Given the description of an element on the screen output the (x, y) to click on. 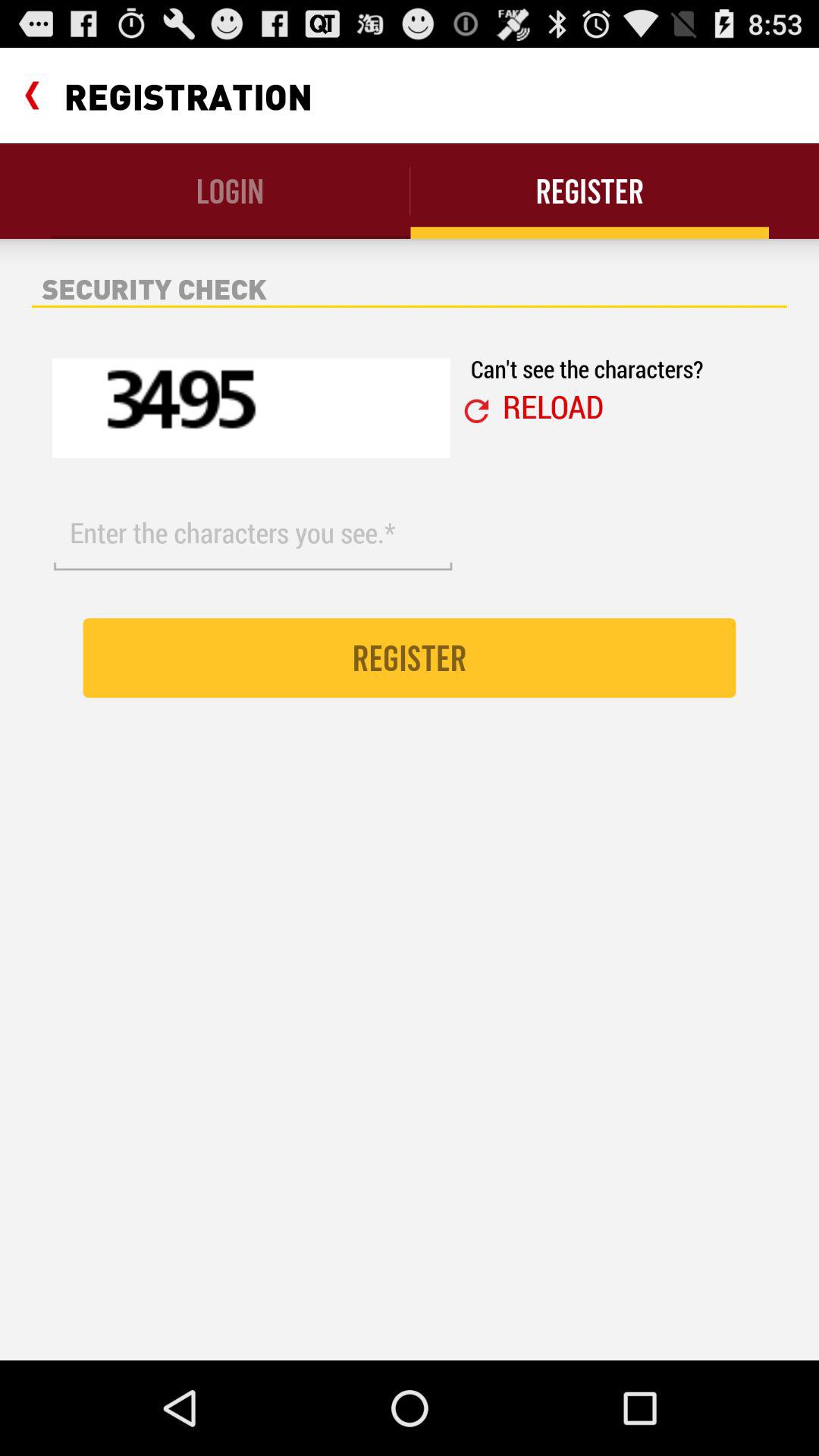
open the item on the left (253, 533)
